Given the description of an element on the screen output the (x, y) to click on. 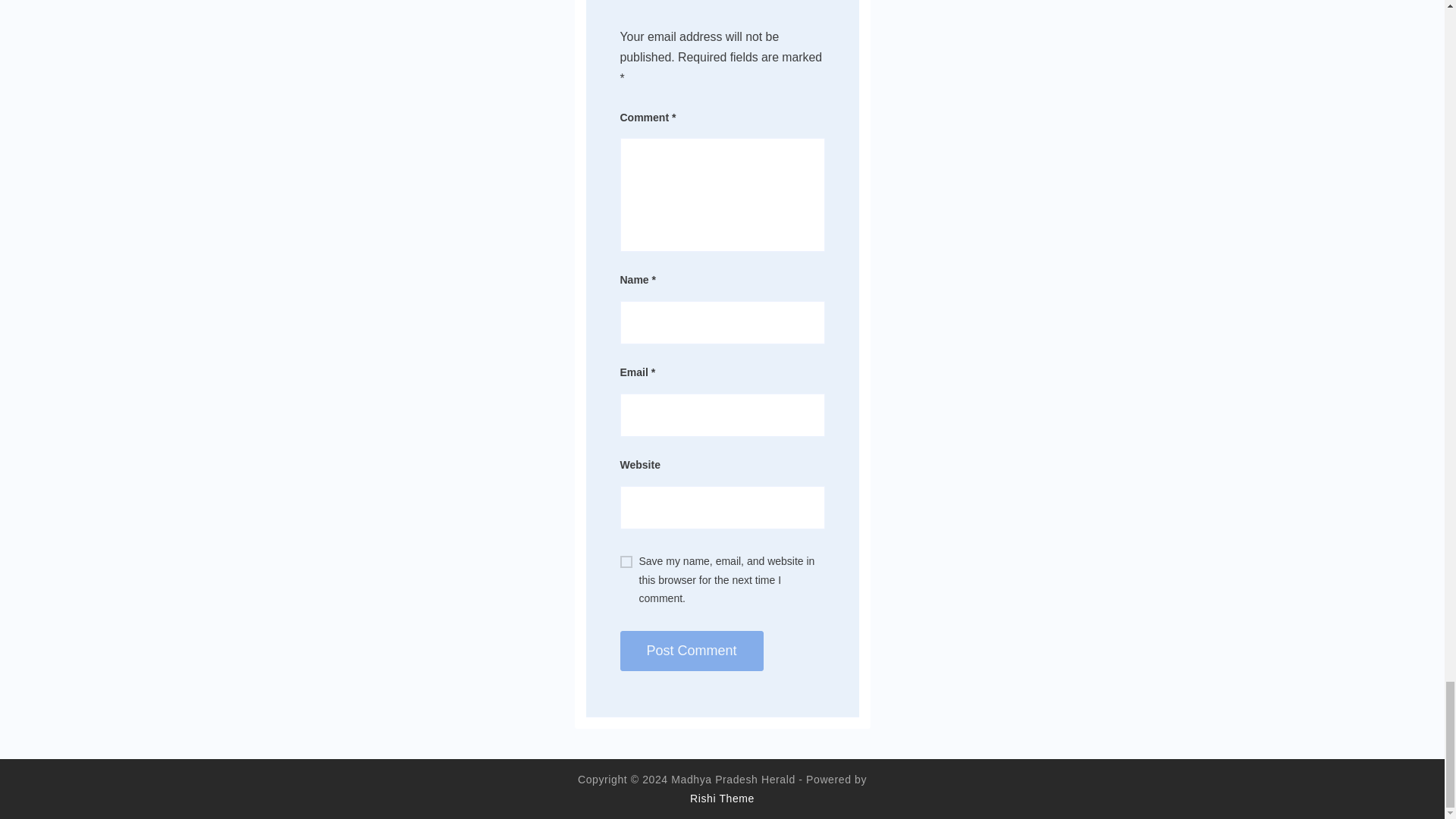
Post Comment (691, 650)
